Given the description of an element on the screen output the (x, y) to click on. 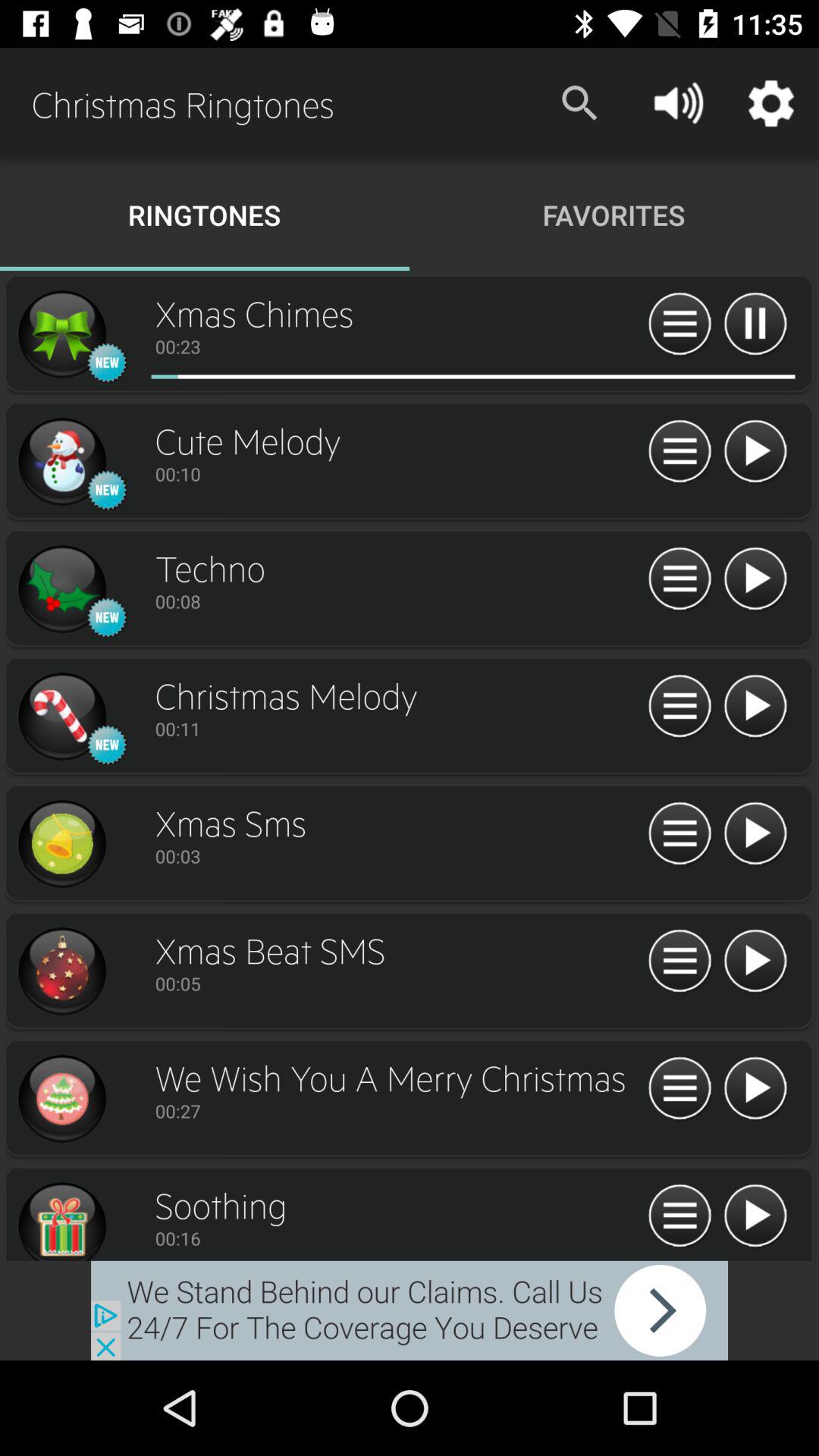
other options (679, 961)
